Given the description of an element on the screen output the (x, y) to click on. 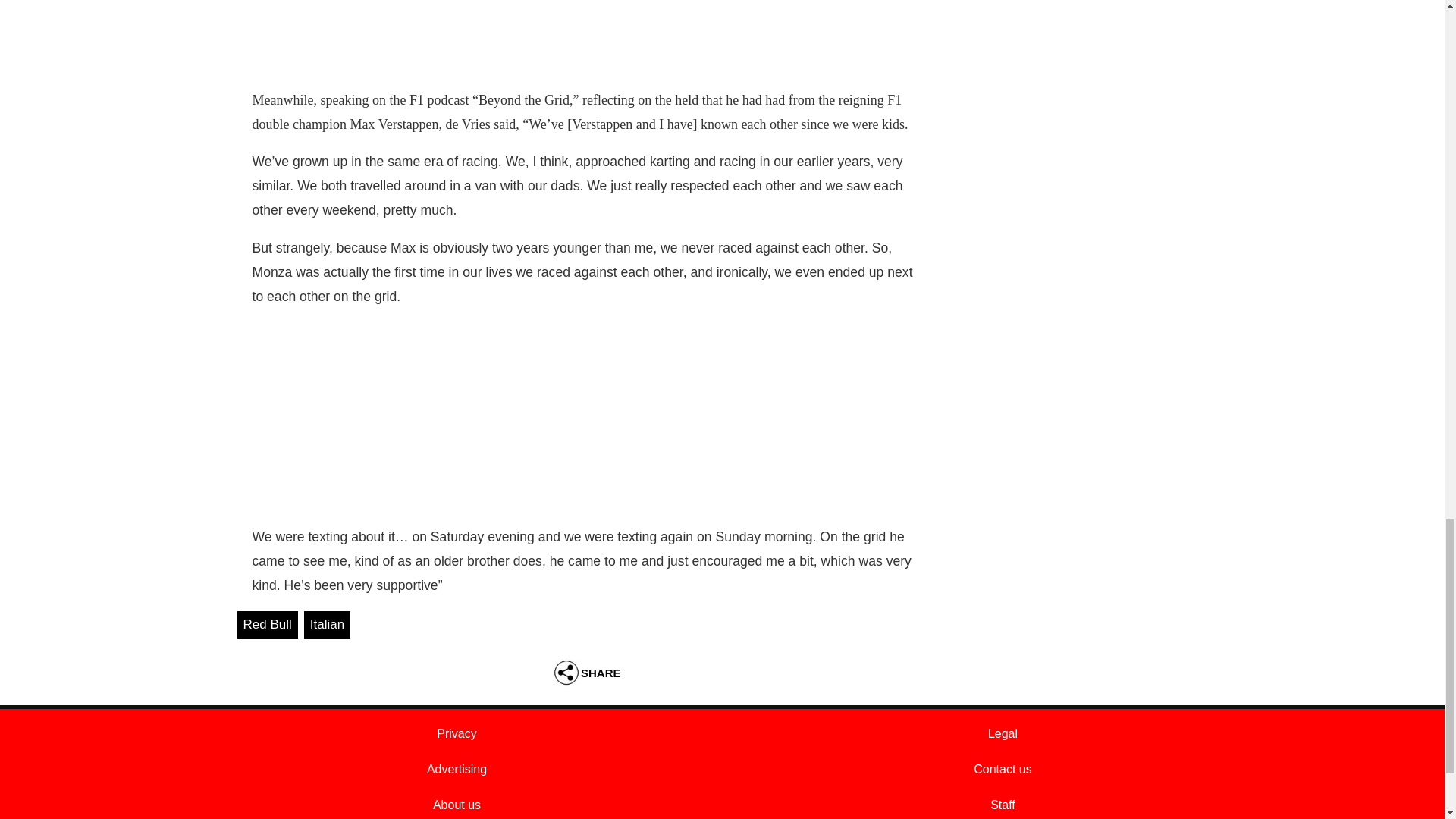
Advertising (456, 768)
Legal (1002, 733)
Italian (327, 624)
Privacy (456, 733)
Red Bull (266, 624)
